Given the description of an element on the screen output the (x, y) to click on. 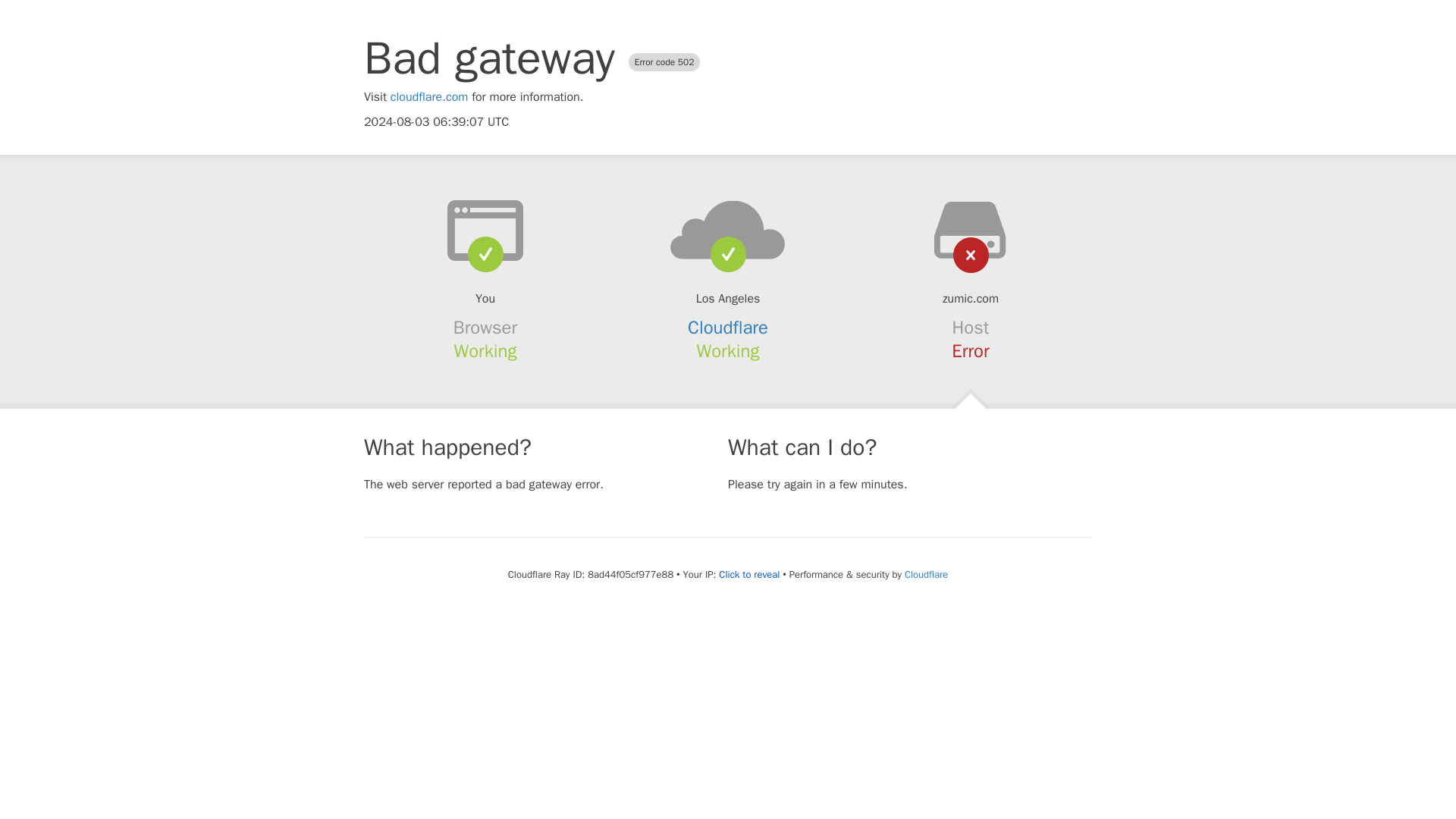
Click to reveal (748, 574)
Cloudflare (925, 574)
cloudflare.com (429, 96)
Cloudflare (727, 327)
